Given the description of an element on the screen output the (x, y) to click on. 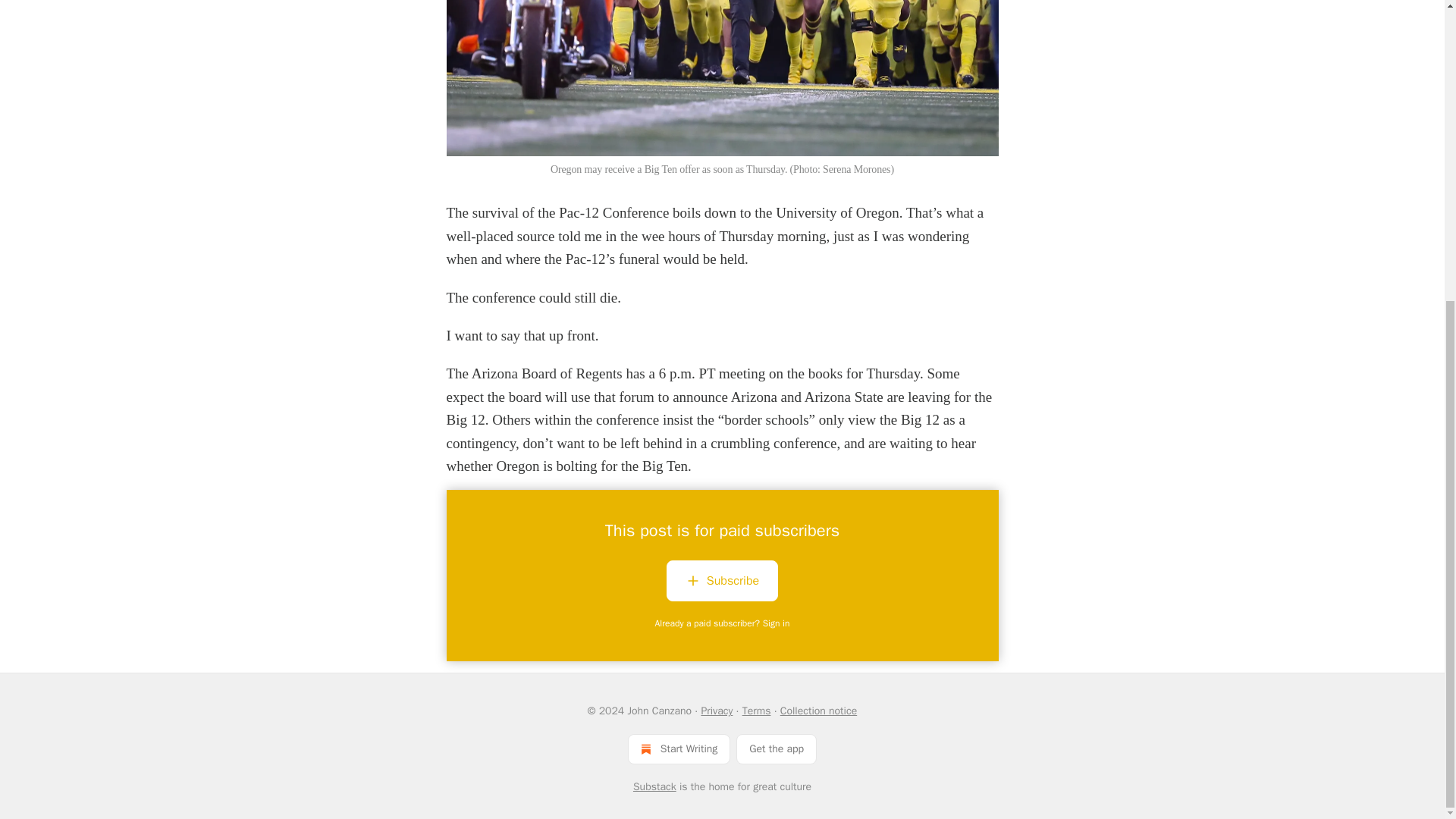
Substack (655, 786)
Start Writing (678, 748)
Already a paid subscriber? Sign in (722, 623)
Subscribe (721, 583)
Subscribe (721, 580)
Terms (756, 710)
Collection notice (818, 710)
Get the app (776, 748)
Privacy (716, 710)
